Given the description of an element on the screen output the (x, y) to click on. 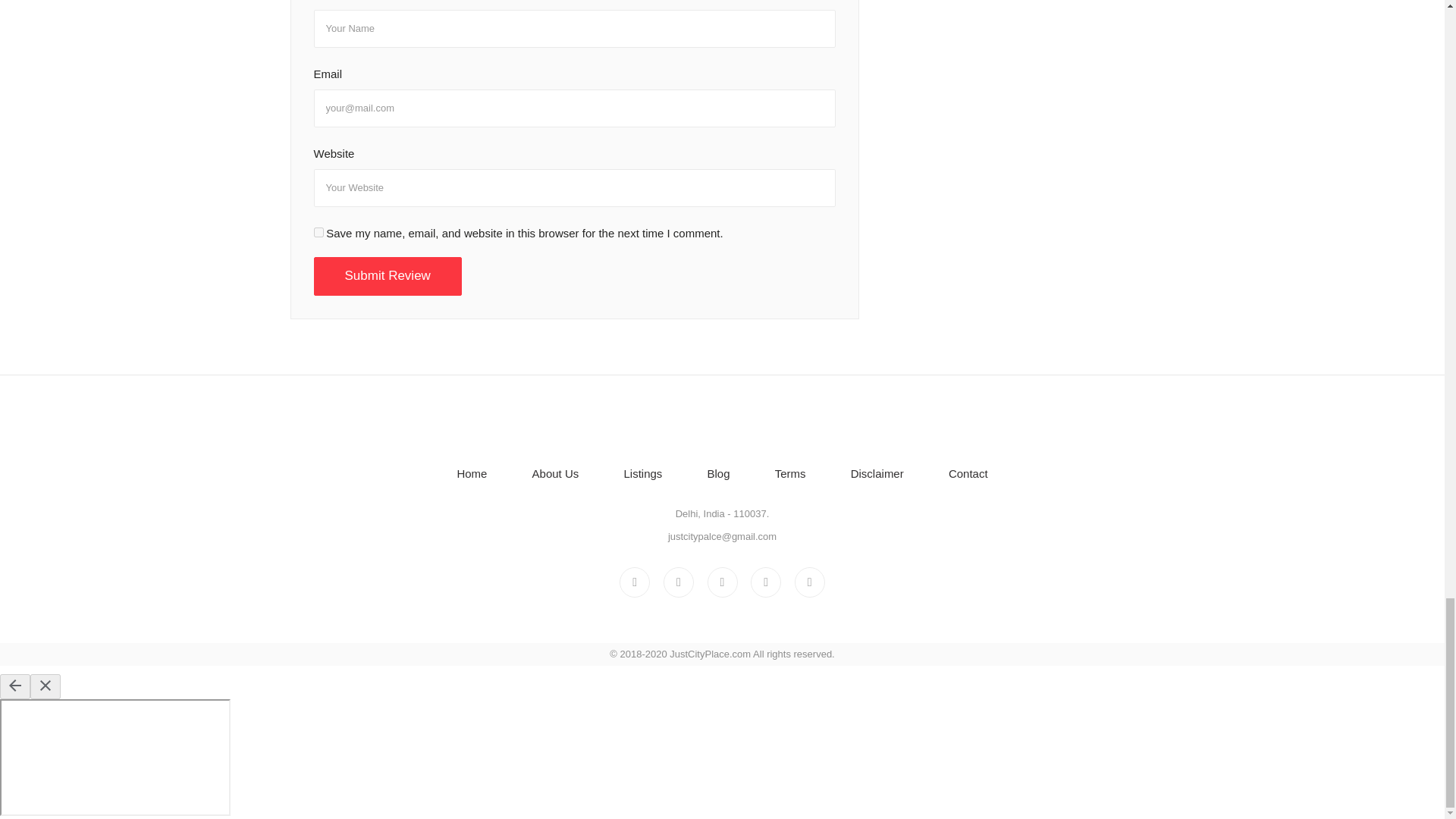
yes (318, 232)
Submit Review (387, 276)
